Given the description of an element on the screen output the (x, y) to click on. 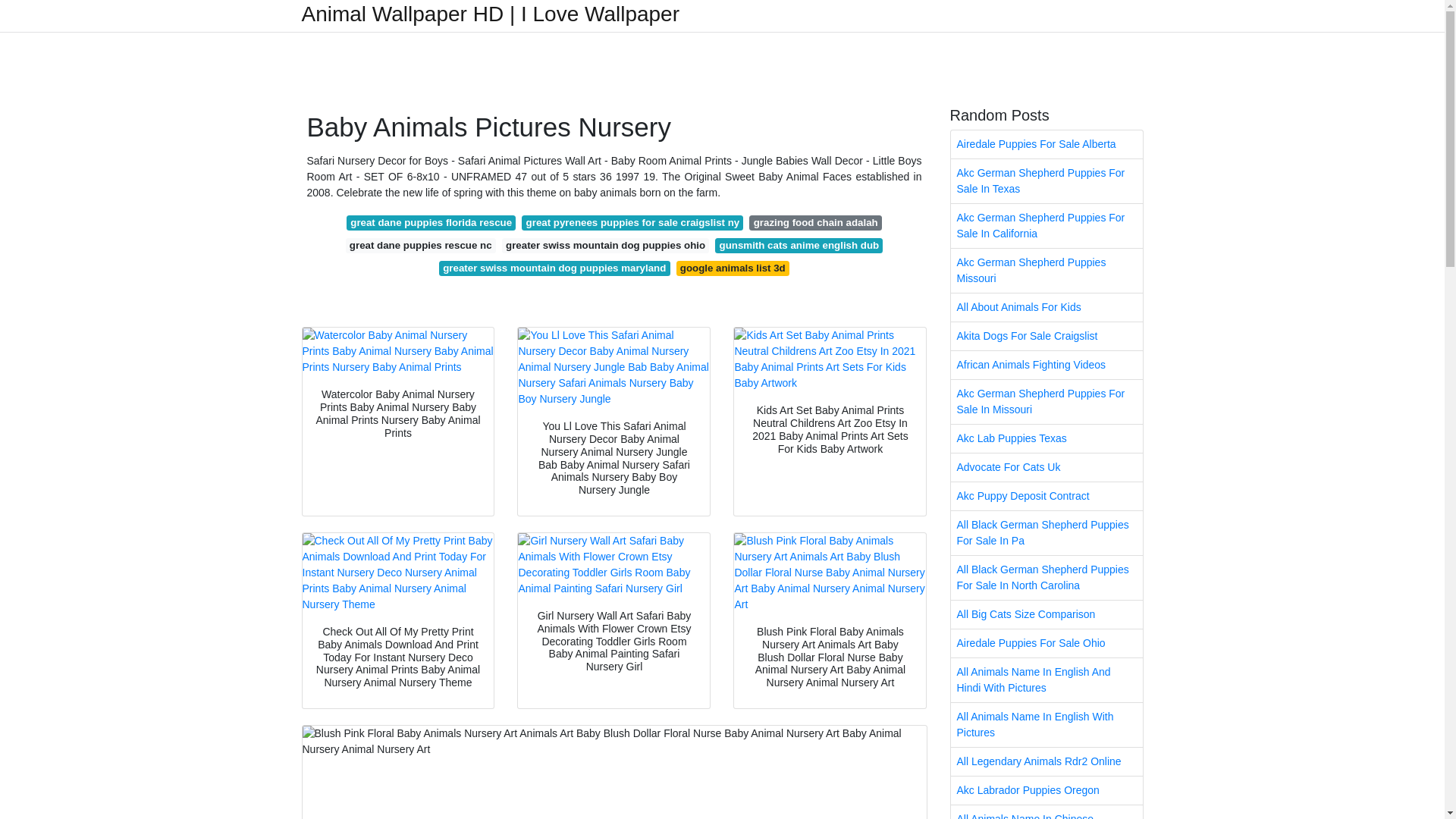
greater swiss mountain dog puppies ohio (606, 245)
African Animals Fighting Videos (1046, 365)
Akc German Shepherd Puppies For Sale In Texas (1046, 180)
Akc German Shepherd Puppies For Sale In Missouri (1046, 402)
Akc German Shepherd Puppies For Sale In California (1046, 225)
Airedale Puppies For Sale Alberta (1046, 144)
google animals list 3d (733, 268)
gunsmith cats anime english dub (798, 245)
Akc German Shepherd Puppies Missouri (1046, 270)
All About Animals For Kids (1046, 307)
